Given the description of an element on the screen output the (x, y) to click on. 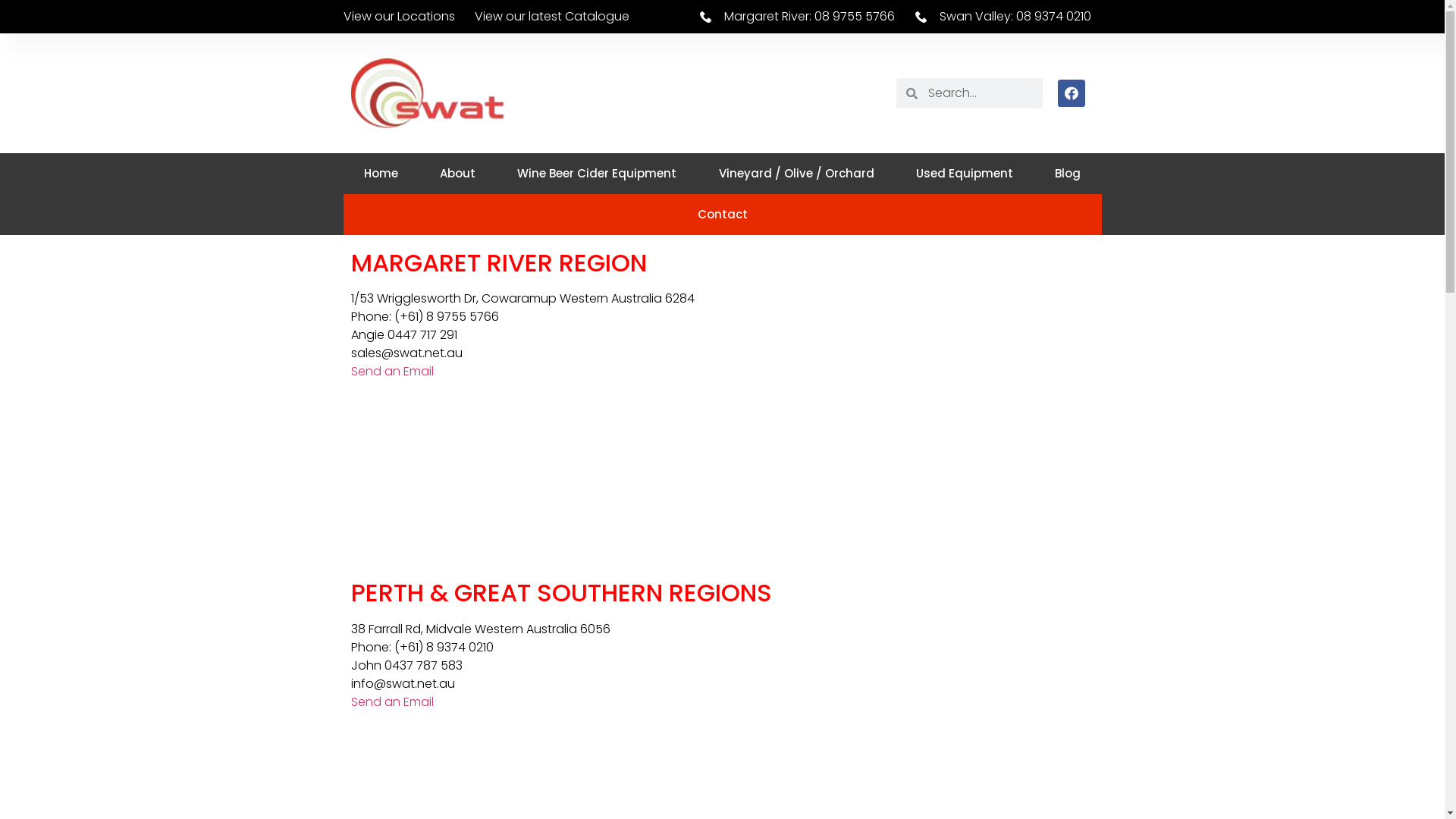
Used Equipment Element type: text (963, 173)
View our Locations Element type: text (398, 16)
Wine Beer Cider Equipment Element type: text (596, 173)
About Element type: text (457, 173)
Blog Element type: text (1067, 173)
Send an Email Element type: text (391, 701)
Margaret River: 08 9755 5766 Element type: text (781, 16)
View our latest Catalogue Element type: text (551, 16)
Send an Email Element type: text (391, 370)
Home Element type: text (380, 173)
Swan Valley: 08 9374 0210 Element type: text (1000, 16)
Vineyard / Olive / Orchard Element type: text (795, 173)
Contact Element type: text (721, 214)
